Given the description of an element on the screen output the (x, y) to click on. 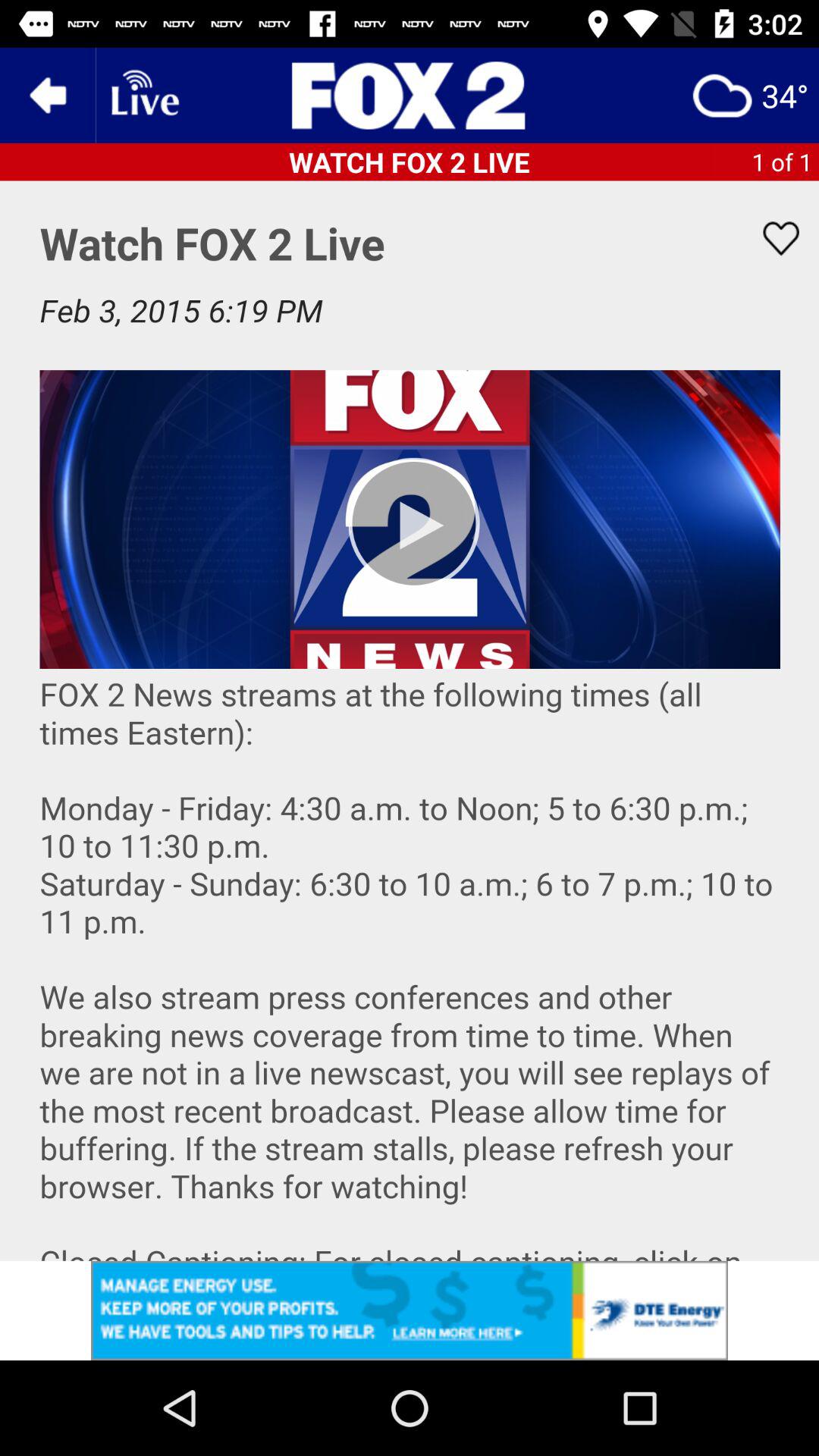
go back (47, 95)
